Given the description of an element on the screen output the (x, y) to click on. 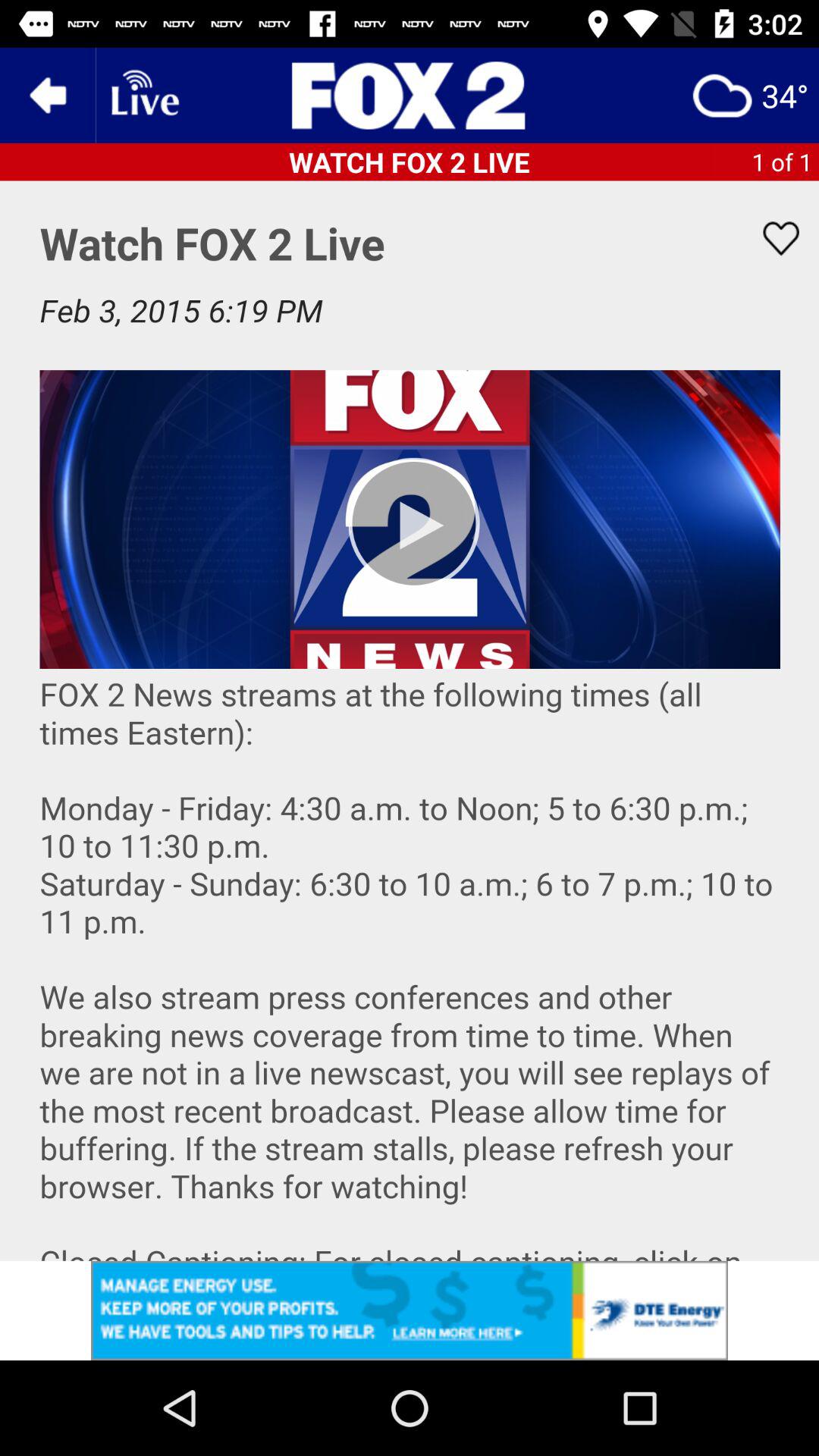
go back (47, 95)
